Given the description of an element on the screen output the (x, y) to click on. 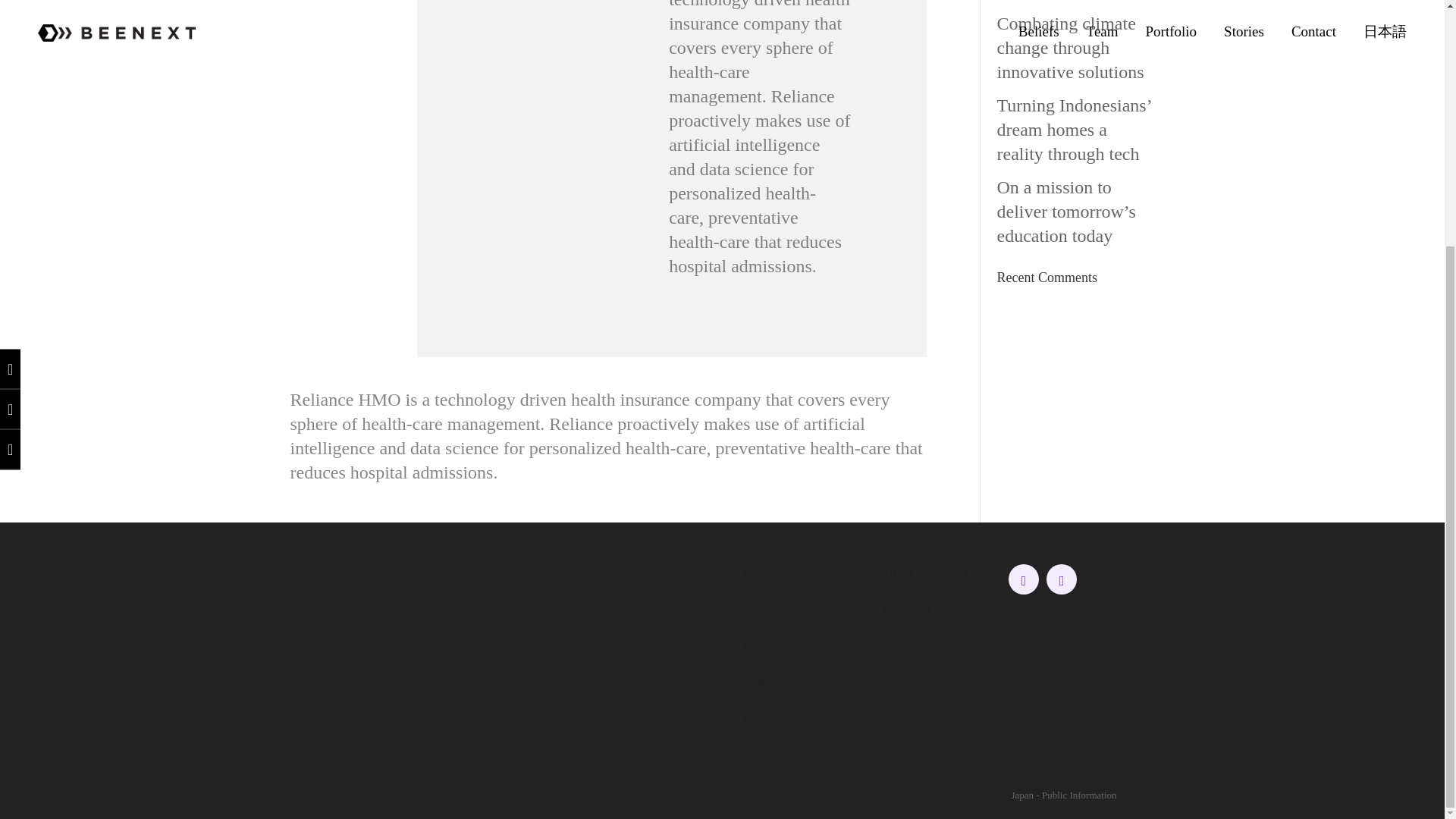
Portfolio (765, 645)
Stories (760, 680)
Combating climate change through innovative solutions (1070, 47)
Beliefs (760, 574)
Contact (762, 716)
Japan - Public Information (1063, 794)
ALL STAR SAAS FUND (904, 574)
Explore Portfolio Careers (903, 609)
Team (757, 609)
